Given the description of an element on the screen output the (x, y) to click on. 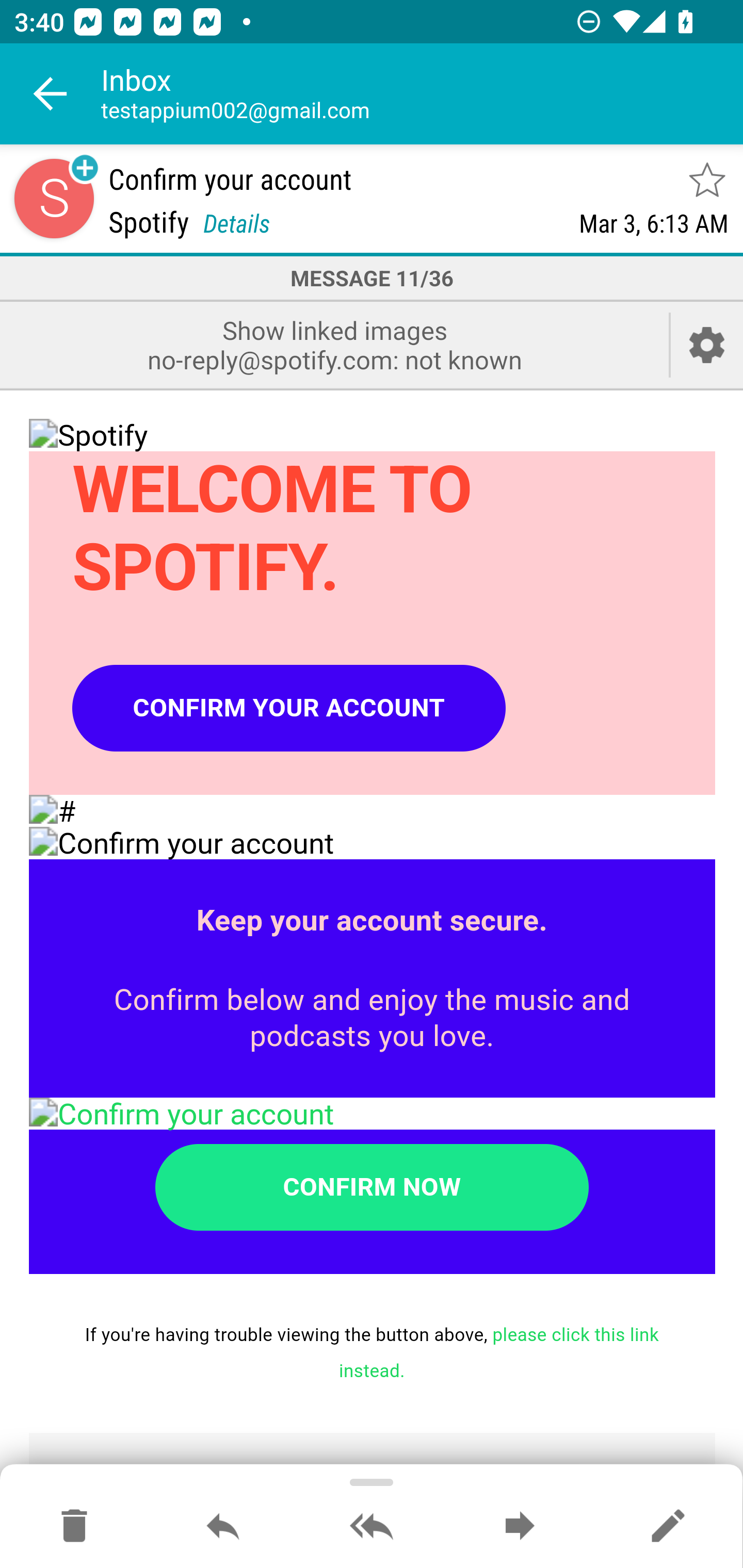
Navigate up (50, 93)
Inbox testappium002@gmail.com (422, 93)
Sender contact button (53, 198)
Show linked images
no-reply@spotify.com: not known (334, 344)
Account setup (706, 344)
CONFIRM YOUR ACCOUNT (288, 708)
Confirm your account (372, 1114)
CONFIRM NOW (371, 1186)
please click this link instead. (499, 1352)
Move to Deleted (74, 1527)
Reply (222, 1527)
Reply all (371, 1527)
Forward (519, 1527)
Reply as new (667, 1527)
